Given the description of an element on the screen output the (x, y) to click on. 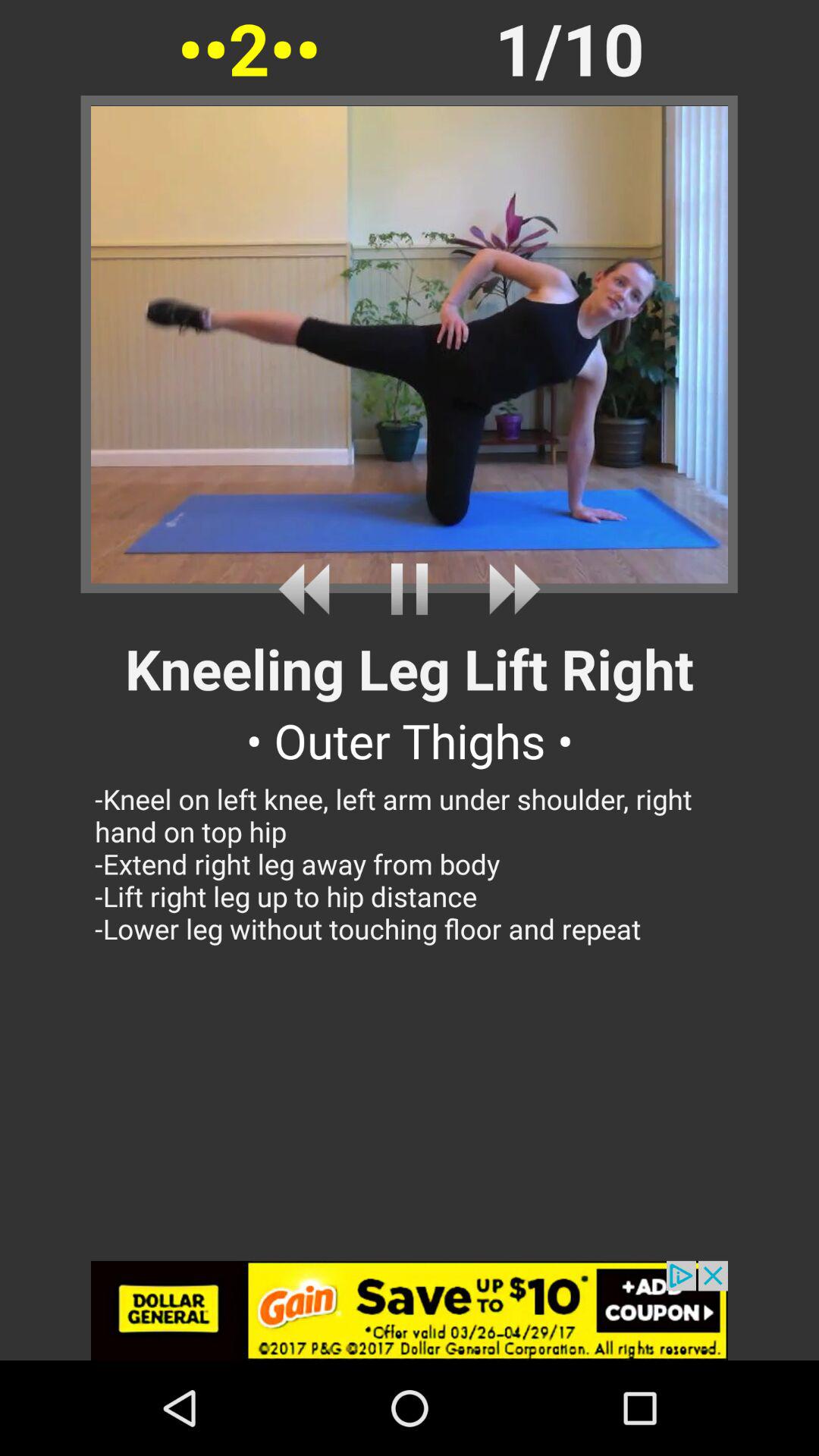
go to stop (409, 589)
